Given the description of an element on the screen output the (x, y) to click on. 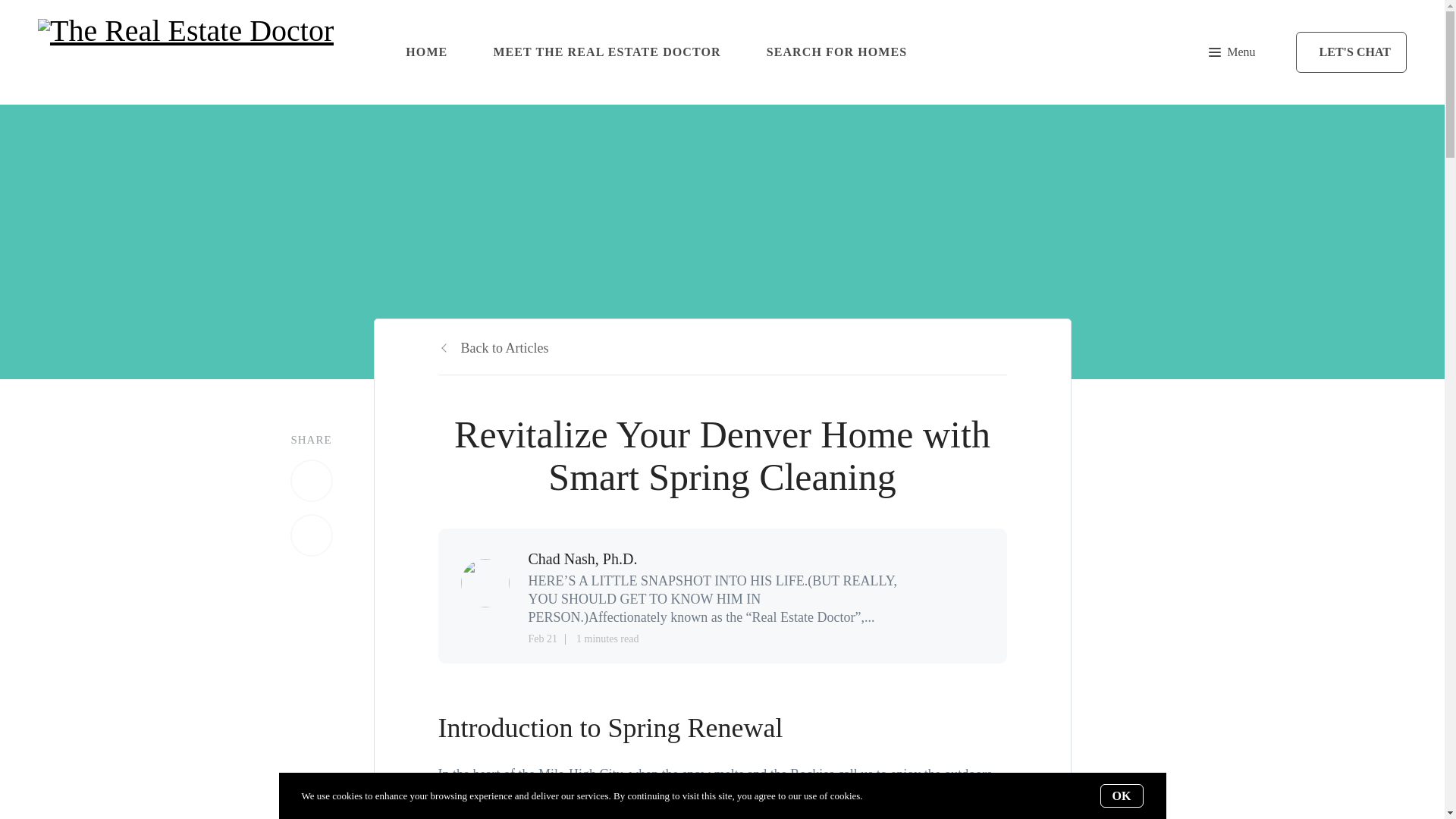
Menu (1231, 52)
MEET THE REAL ESTATE DOCTOR (606, 52)
LET'S CHAT (1350, 51)
HOME (426, 52)
SEARCH FOR HOMES (837, 52)
